Given the description of an element on the screen output the (x, y) to click on. 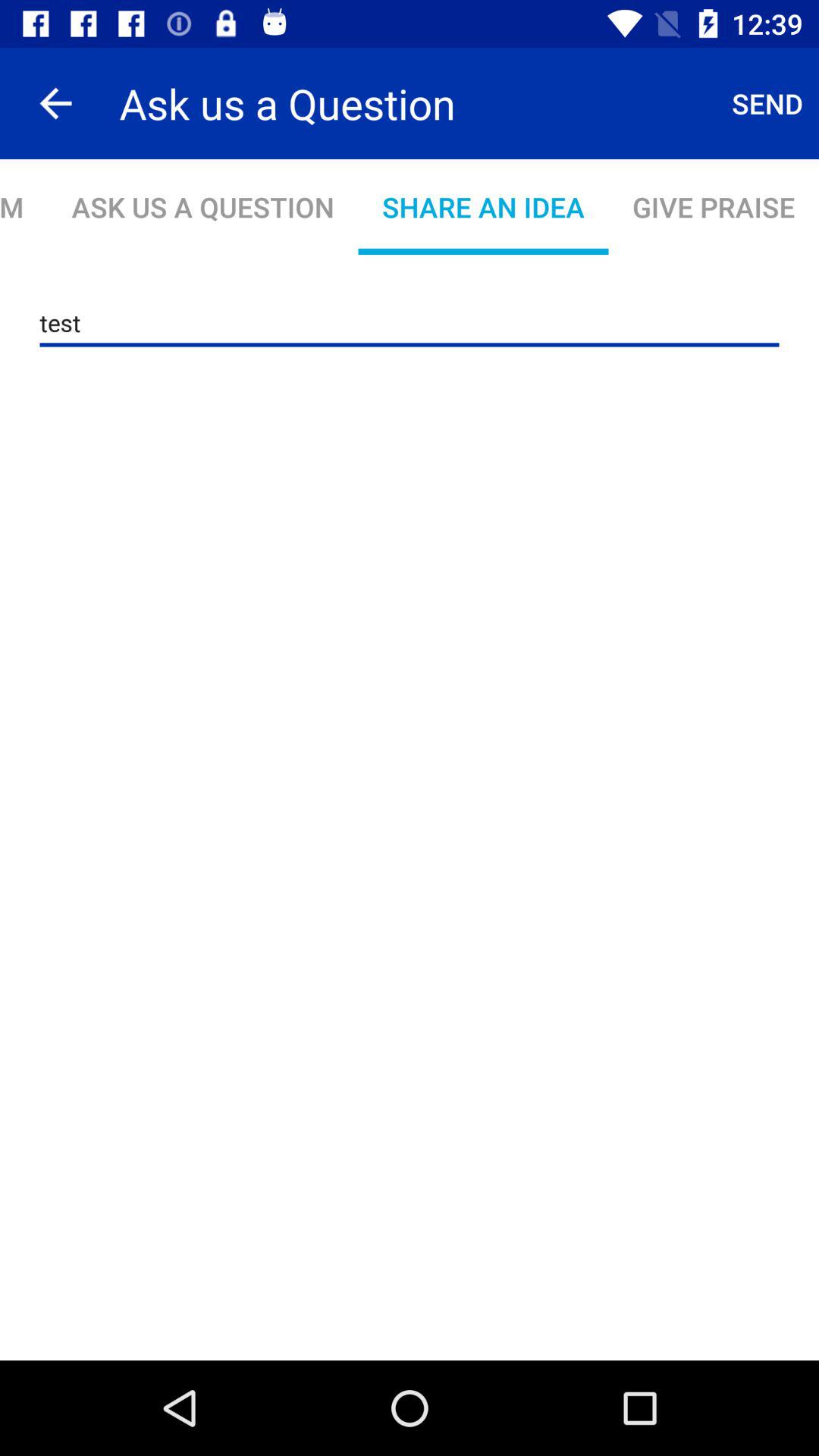
scroll to the send item (767, 103)
